Given the description of an element on the screen output the (x, y) to click on. 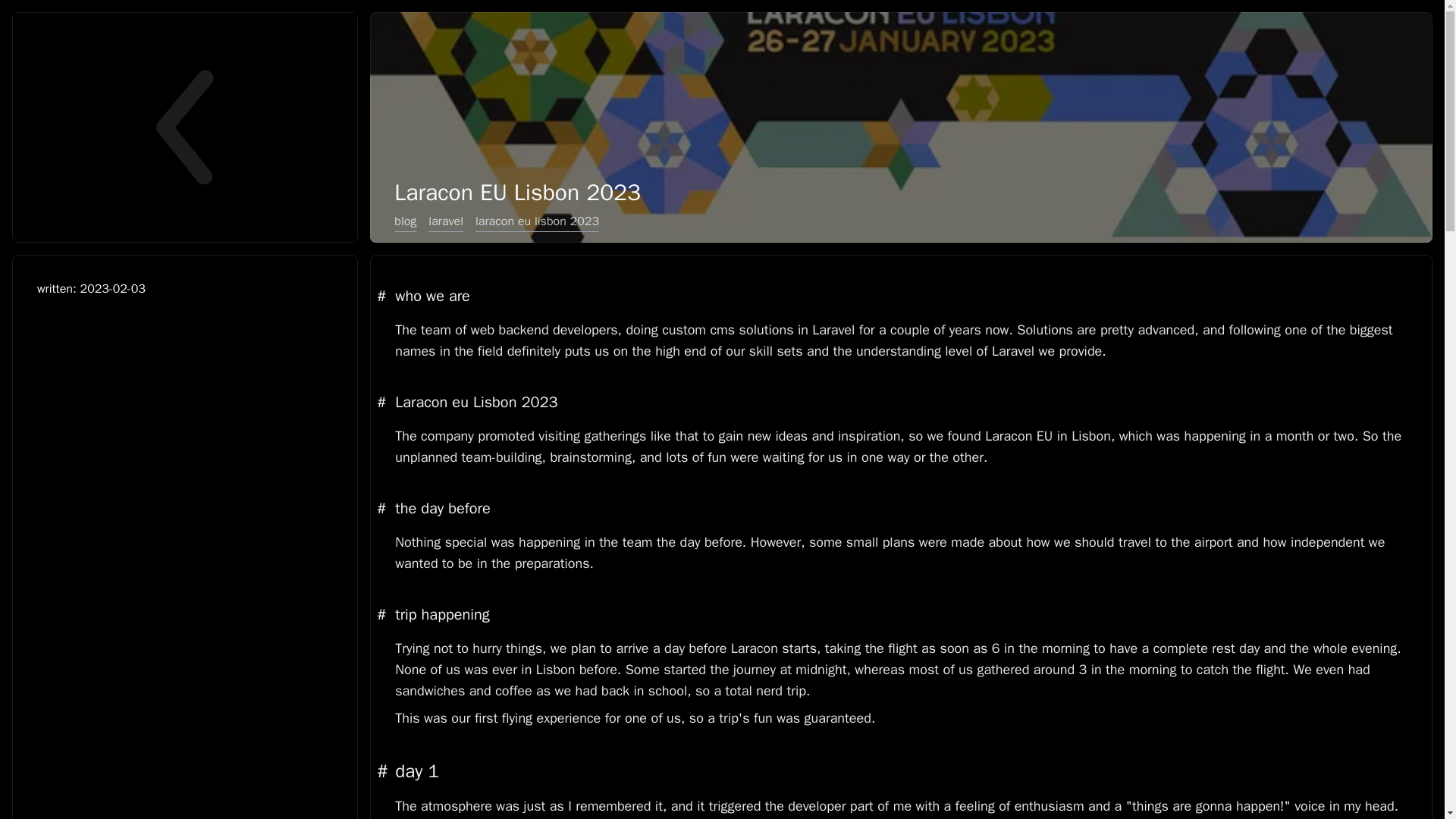
laravel (445, 221)
blog (405, 221)
laracon eu lisbon 2023 (536, 221)
